Given the description of an element on the screen output the (x, y) to click on. 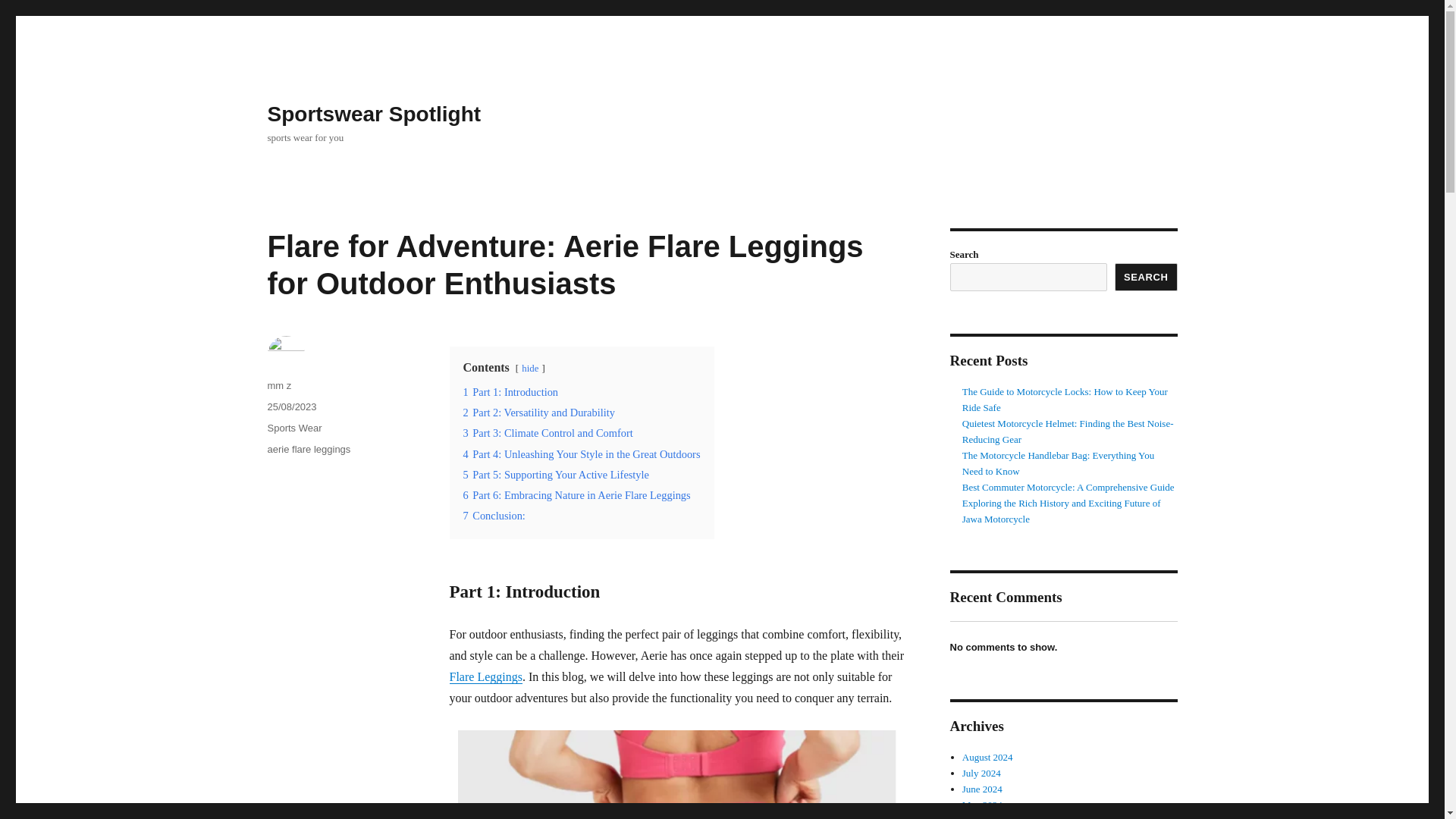
hide (529, 368)
mm z (278, 385)
4 Part 4: Unleashing Your Style in the Great Outdoors (581, 453)
The Guide to Motorcycle Locks: How to Keep Your Ride Safe (1064, 399)
Sportswear Spotlight (373, 114)
Best Commuter Motorcycle: A Comprehensive Guide (1068, 487)
5 Part 5: Supporting Your Active Lifestyle (555, 474)
Flare Leggings (484, 676)
aerie flare leggings (308, 449)
